Given the description of an element on the screen output the (x, y) to click on. 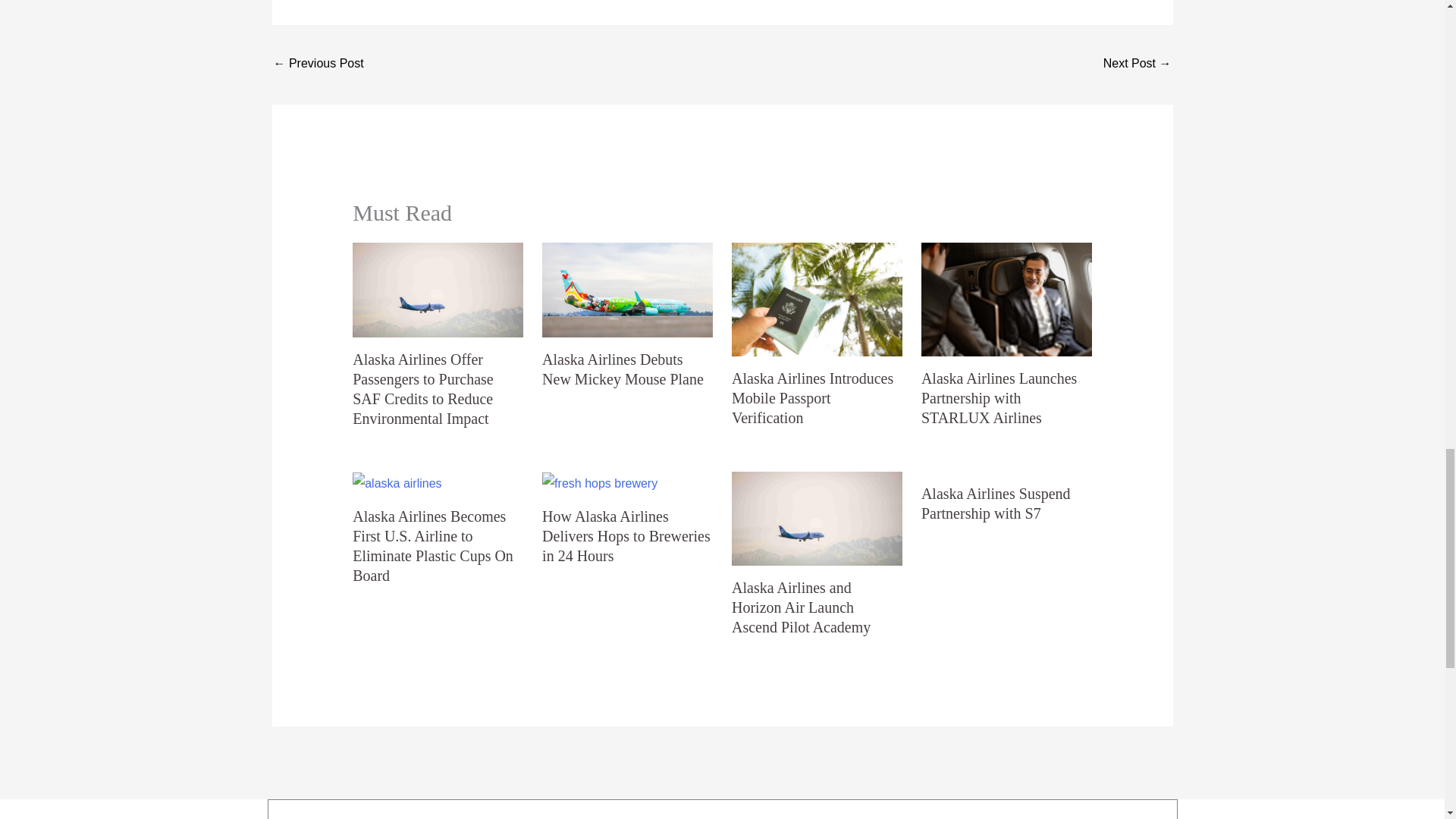
British Airways to Conduct 25 Second Covid-19 Test (317, 64)
Alaska Airlines Introduces Mobile Passport Verification 5 (817, 299)
Alaska Airlines Debuts New Mickey Mouse Plane 4 (627, 289)
Sea Cloud Spirit, 90 Years Old Yacht, Returns to Sailings (1137, 64)
Alaska Airlines Launches Partnership with STARLUX Airlines 6 (1006, 299)
How Alaska Airlines Delivers Hops to Breweries in 24 Hours 8 (599, 483)
